Given the description of an element on the screen output the (x, y) to click on. 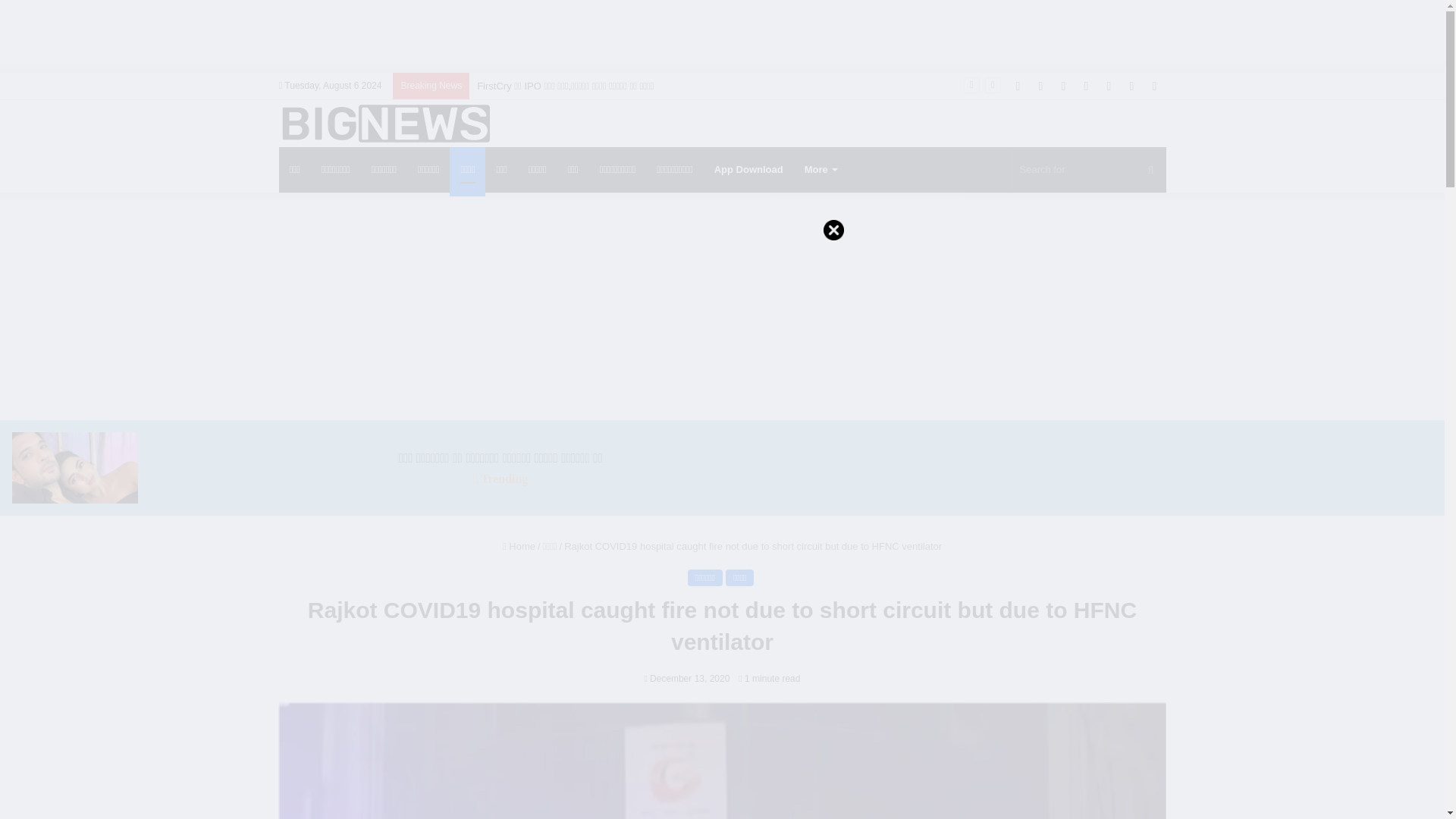
More (820, 169)
bignews (384, 123)
Home (518, 546)
App Download (748, 169)
Search for (1088, 169)
